Given the description of an element on the screen output the (x, y) to click on. 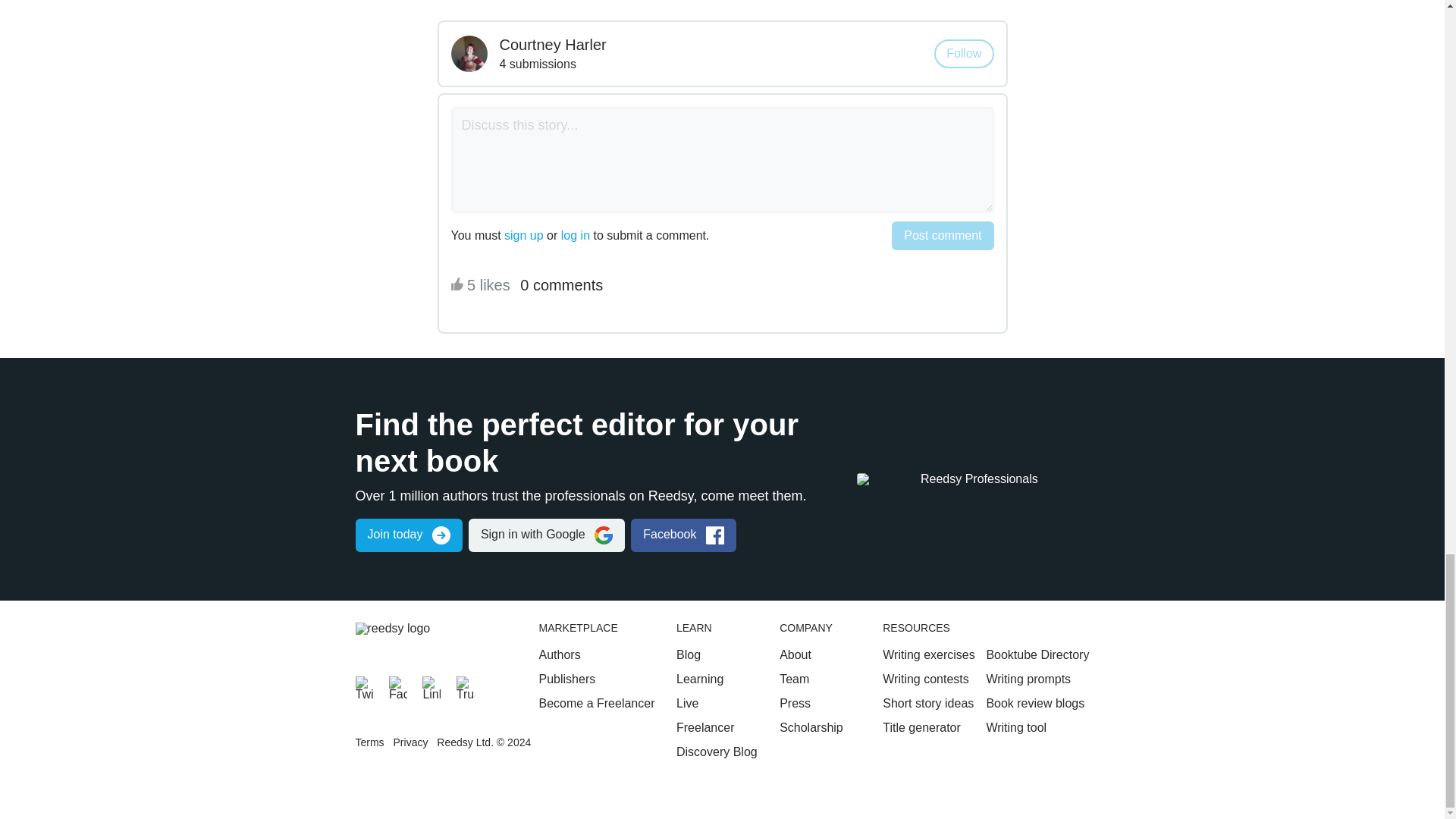
LinkedIn (431, 685)
Facebook (397, 685)
Sign up (408, 535)
Twitter (363, 685)
Post comment (941, 235)
Trustpilot (465, 685)
Sign in with Facebook (683, 535)
Sign in with Google (546, 535)
